Given the description of an element on the screen output the (x, y) to click on. 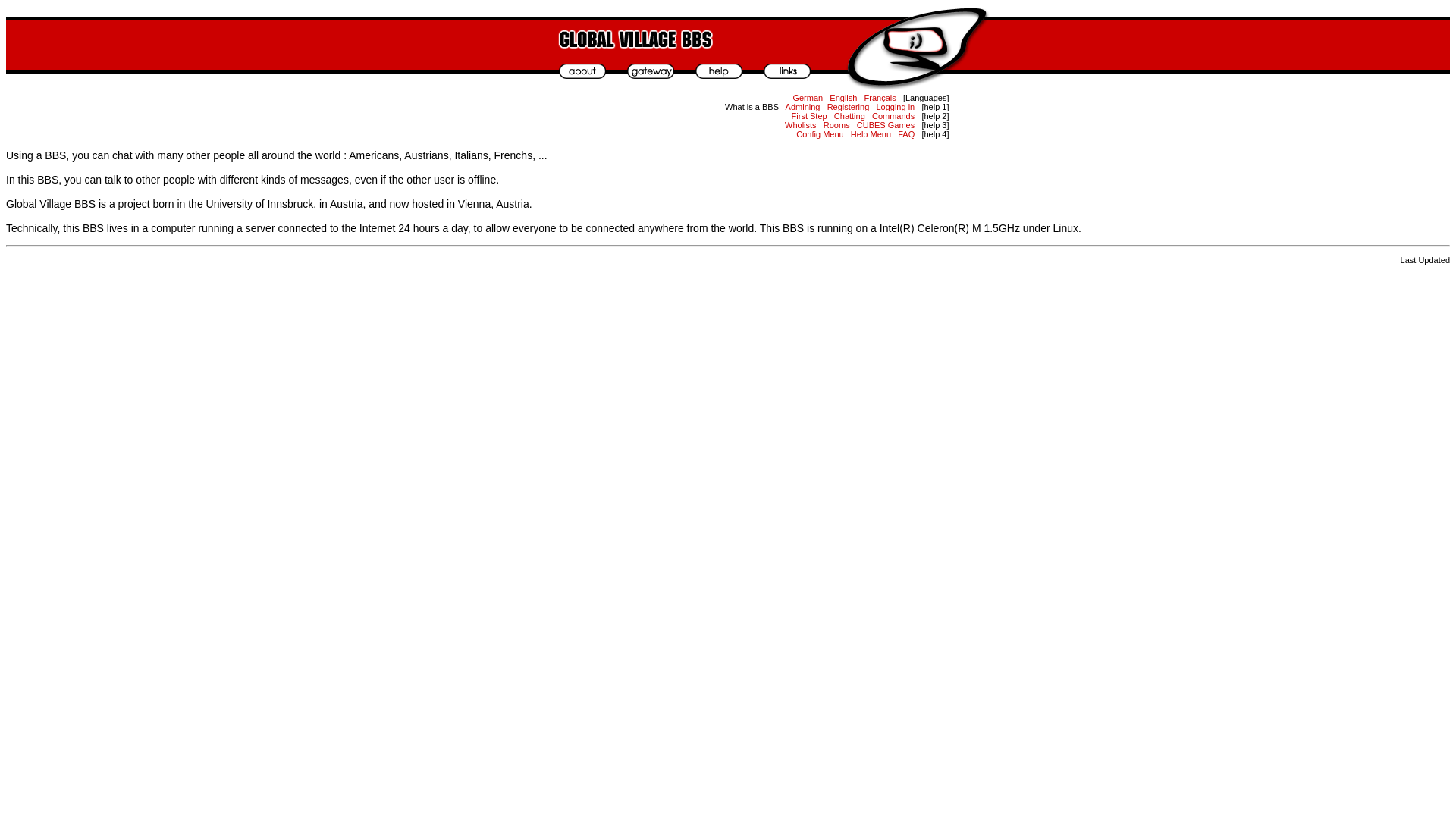
Config Menu (819, 133)
Registering (848, 106)
Rooms (837, 124)
Wholists (800, 124)
CUBES Games (885, 124)
First Step (809, 115)
FAQ (906, 133)
German (807, 97)
Chatting (849, 115)
English (843, 97)
